Given the description of an element on the screen output the (x, y) to click on. 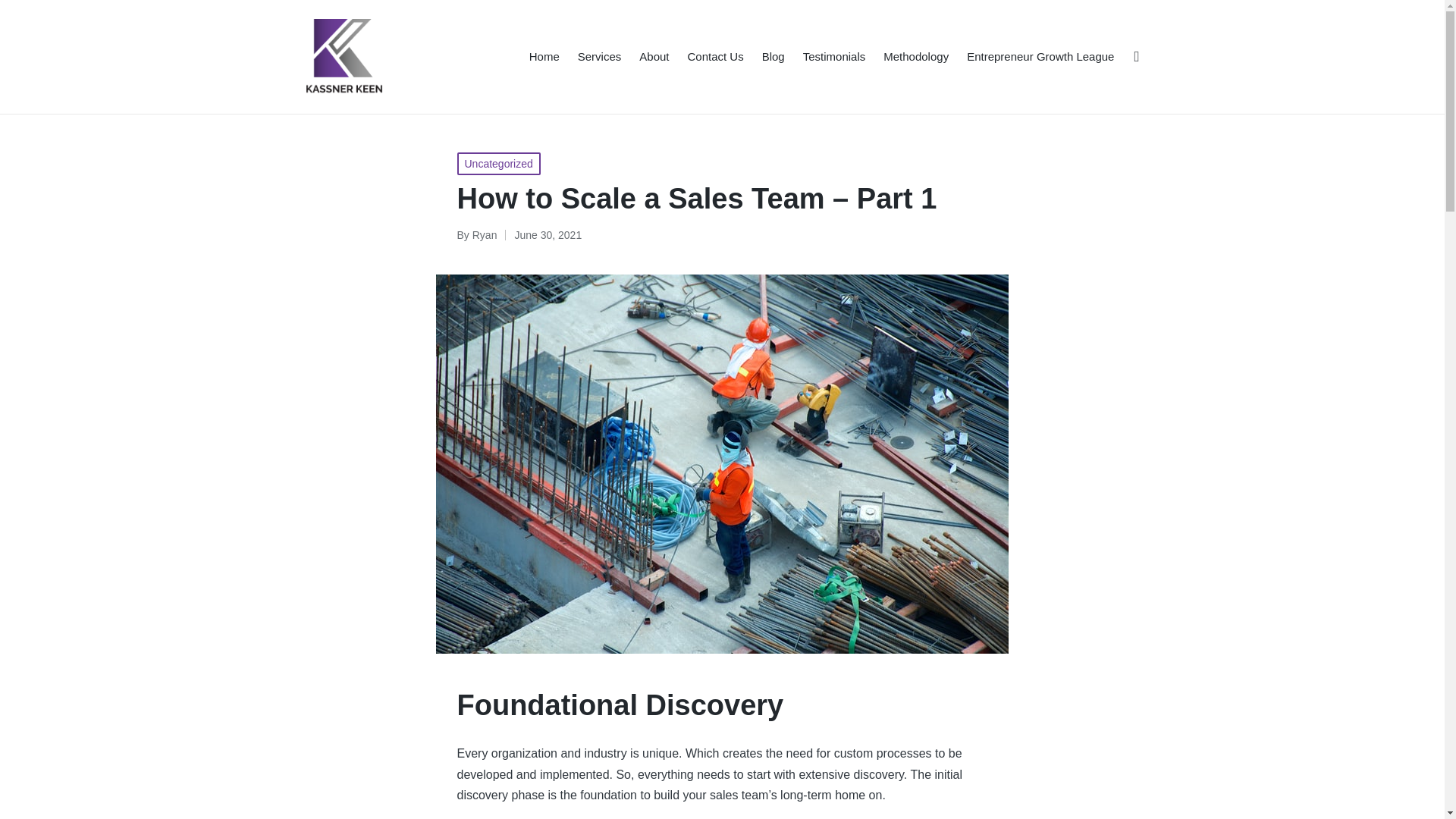
Home (544, 56)
About (653, 56)
Uncategorized (498, 163)
Methodology (916, 56)
Services (599, 56)
Testimonials (834, 56)
Blog (772, 56)
Ryan (484, 234)
View all posts by Ryan (484, 234)
Entrepreneur Growth League (1039, 56)
